Given the description of an element on the screen output the (x, y) to click on. 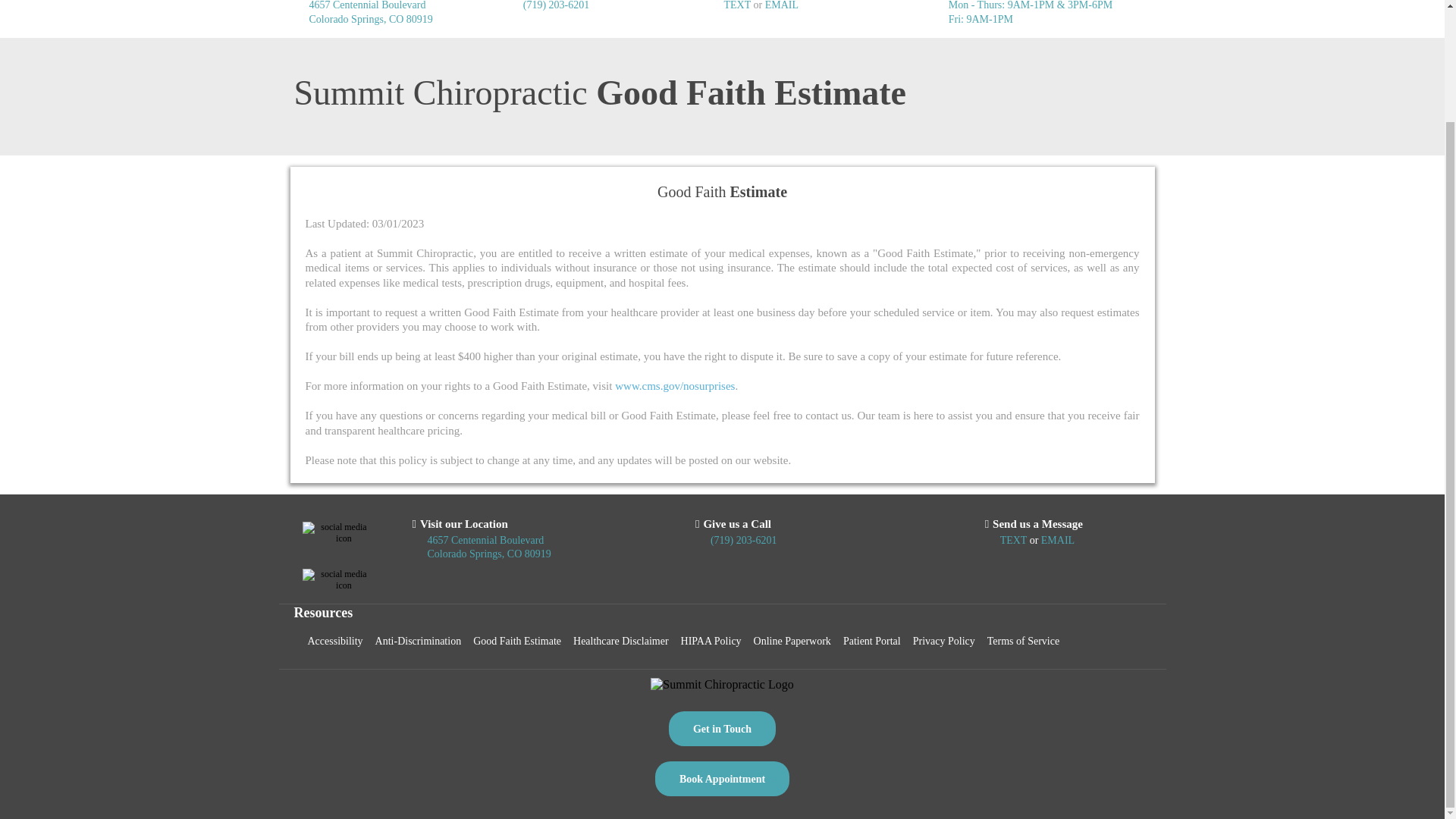
TEXT (737, 5)
EMAIL (1057, 540)
TEXT (1014, 540)
Anti-Discrimination (418, 641)
EMAIL (781, 5)
Accessibility (335, 641)
HIPAA Policy (711, 641)
Good Faith Estimate (517, 641)
Healthcare Disclaimer (621, 641)
